Given the description of an element on the screen output the (x, y) to click on. 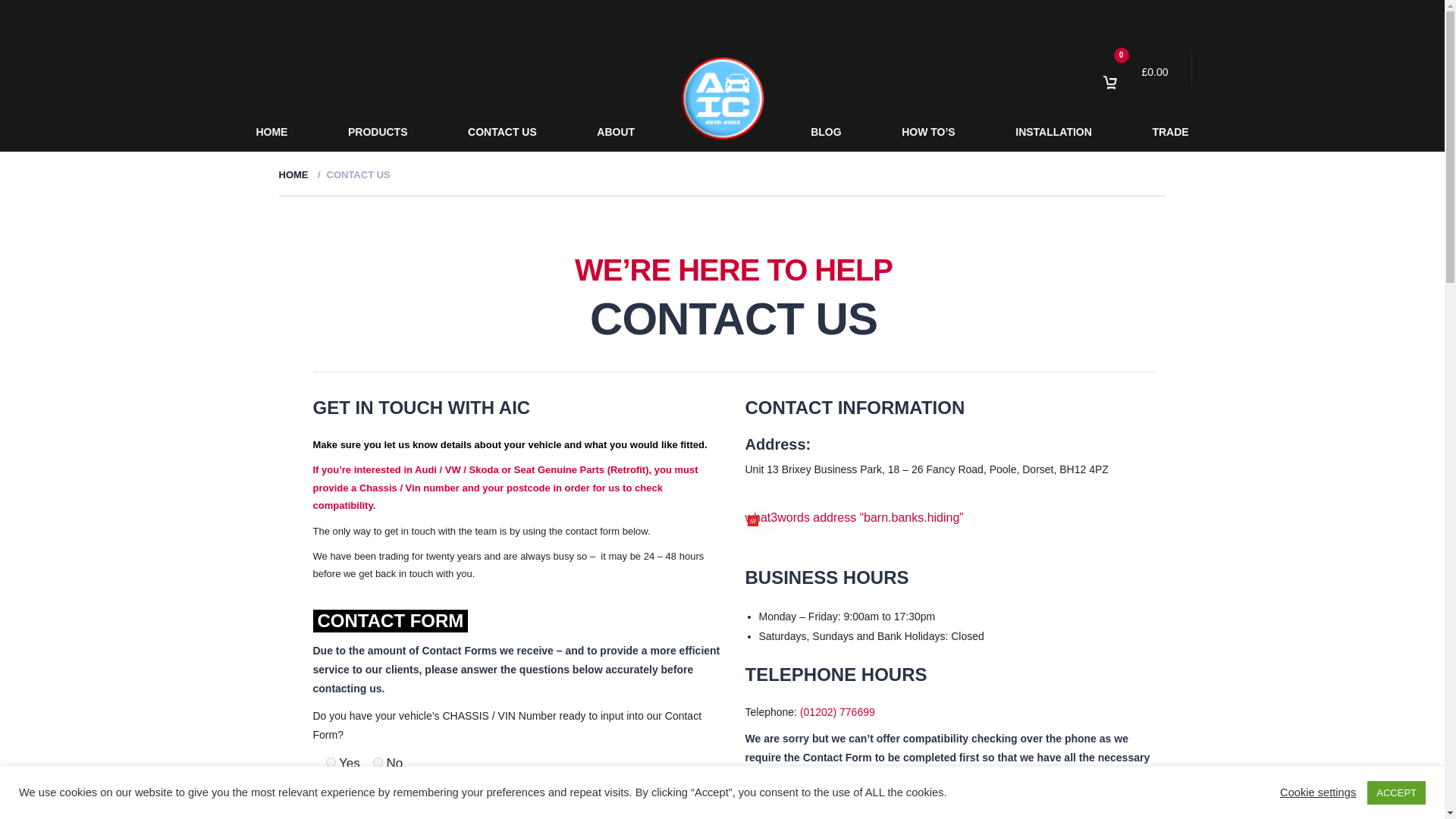
No (377, 762)
INSTALLATION (1053, 131)
PRODUCTS (377, 131)
HOME (293, 174)
MENU ITEM (722, 99)
View Bag (1135, 71)
CONTACT US (501, 131)
ABOUT (616, 131)
HOME (271, 131)
Yes (331, 762)
BLOG (826, 131)
TRADE (1170, 131)
Clicking Here (510, 814)
